Given the description of an element on the screen output the (x, y) to click on. 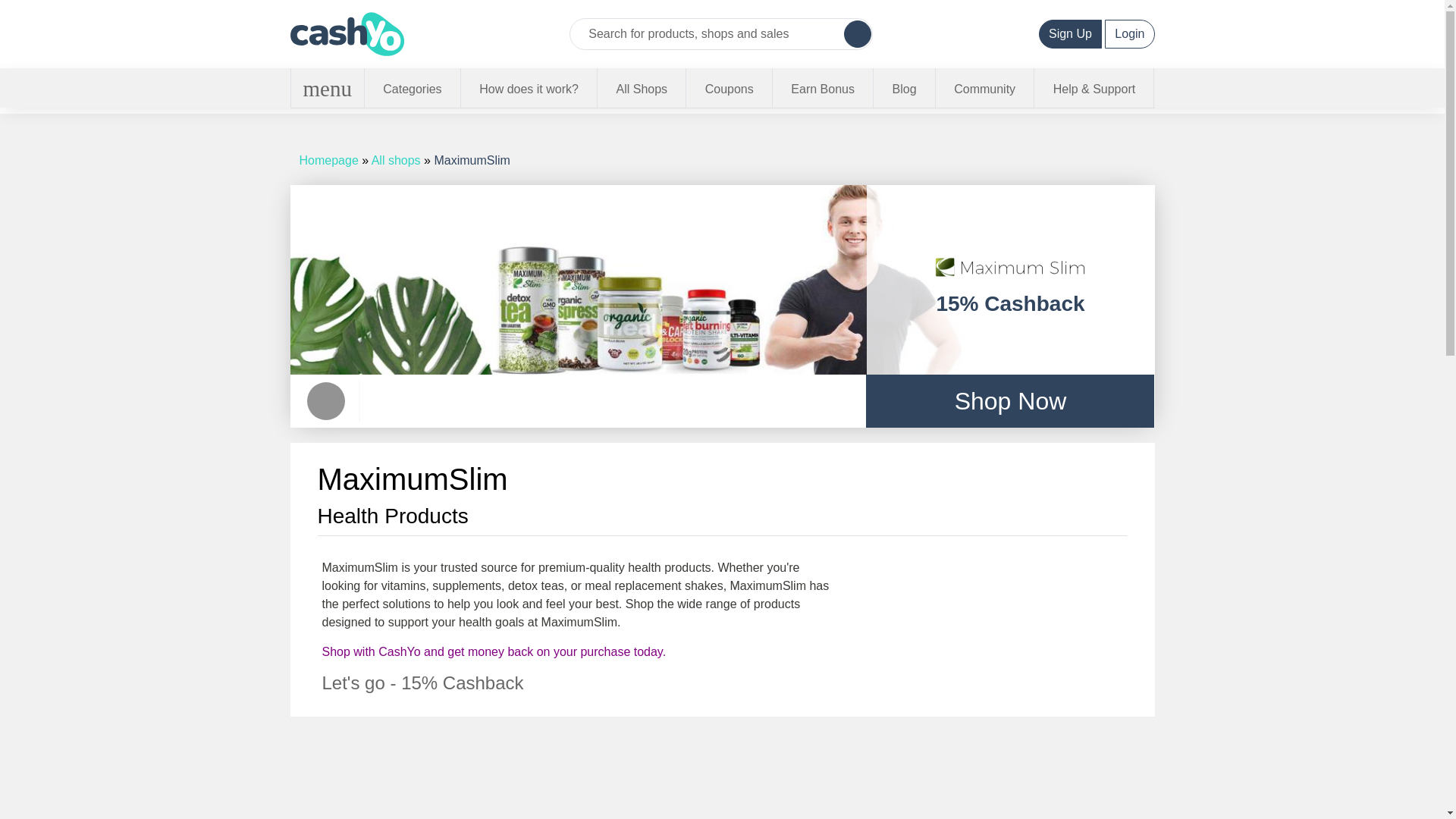
Sign Up (1070, 33)
Blog (904, 89)
Categories (413, 89)
All Shops (395, 160)
coupons and deals (729, 89)
Search for products, shops and sales (706, 33)
How does it work? (528, 89)
Coupons (729, 89)
Login (1129, 33)
